Given the description of an element on the screen output the (x, y) to click on. 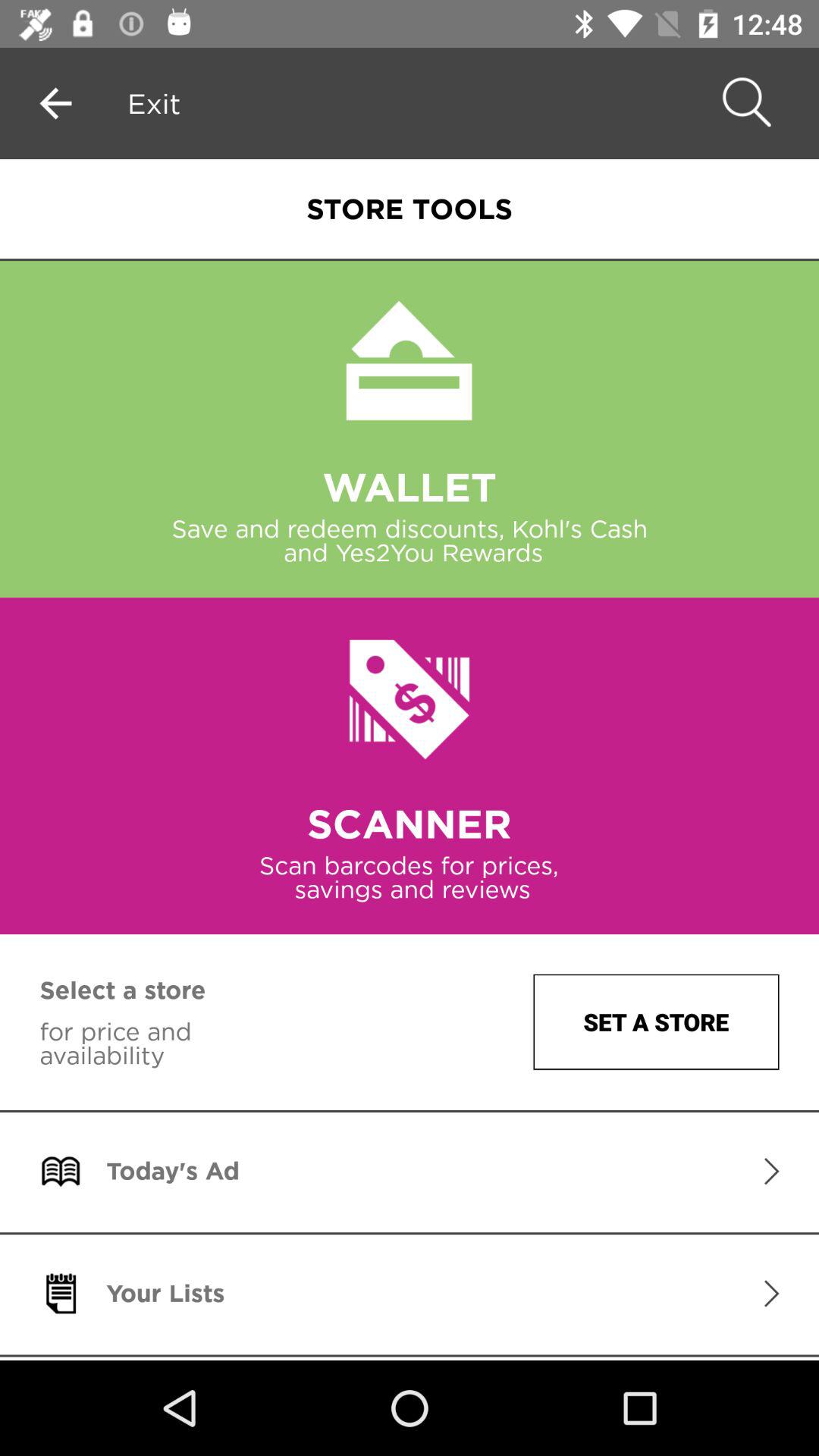
go back (55, 103)
